Given the description of an element on the screen output the (x, y) to click on. 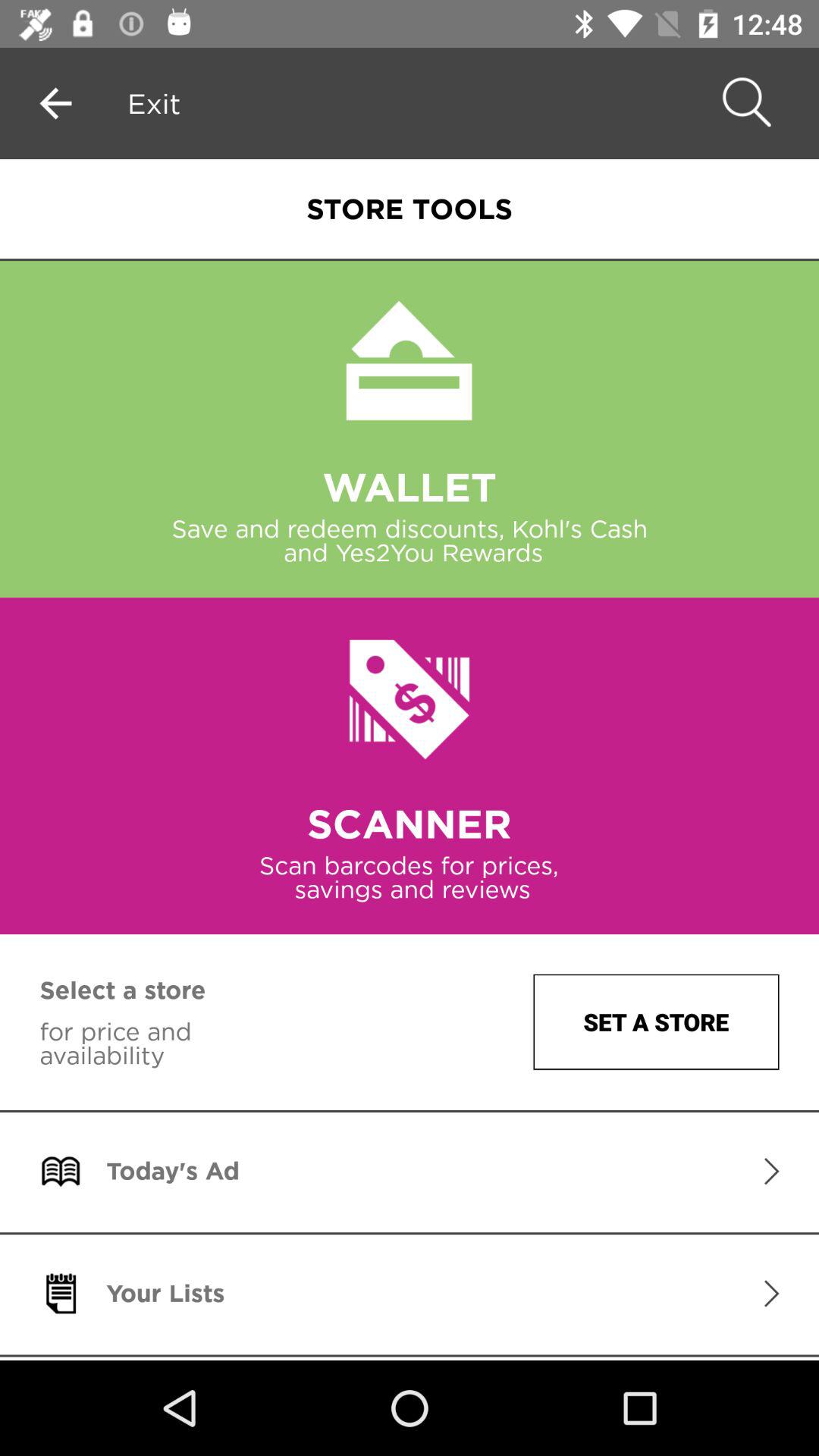
go back (55, 103)
